Given the description of an element on the screen output the (x, y) to click on. 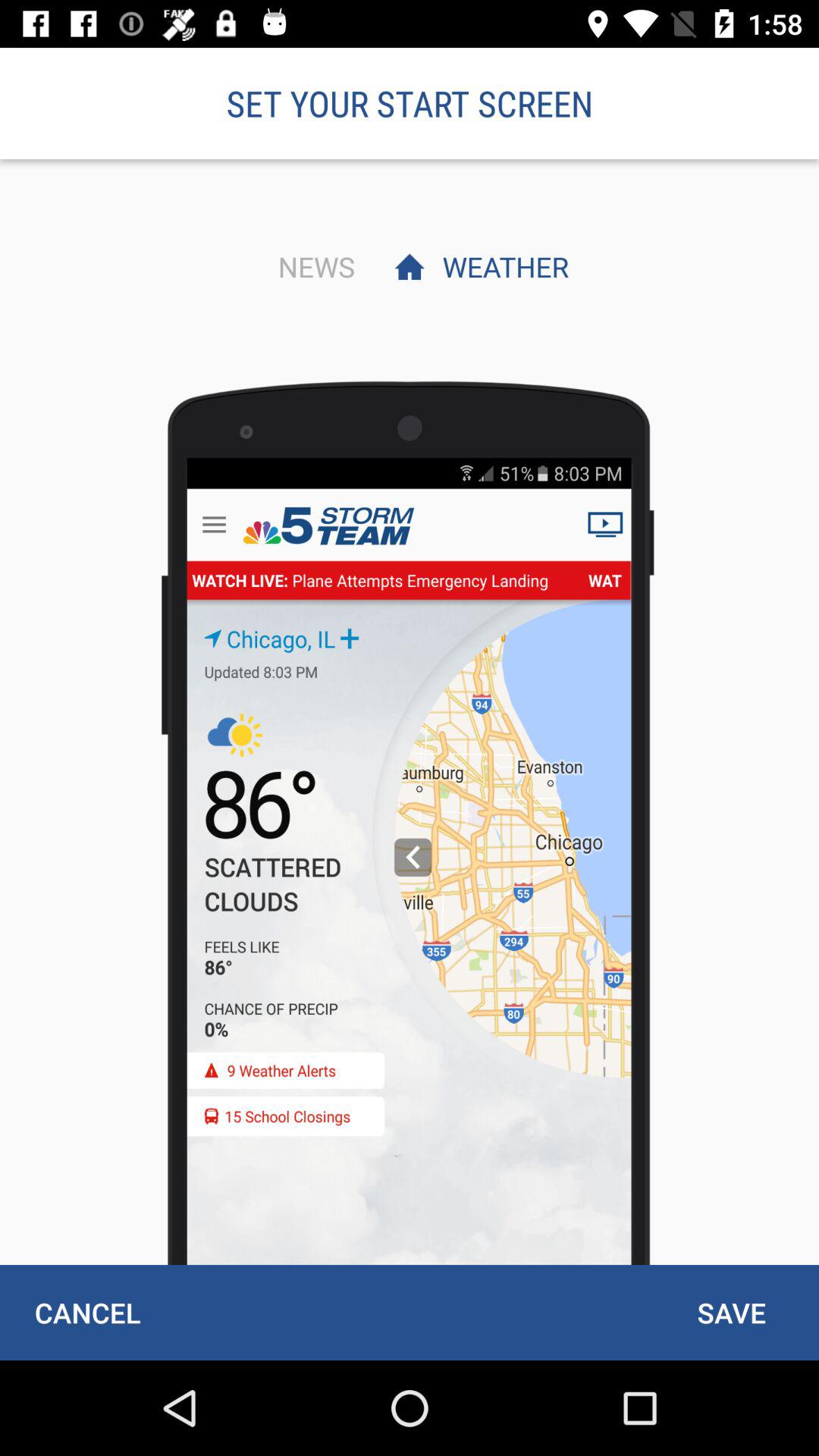
choose item below set your start item (501, 266)
